Given the description of an element on the screen output the (x, y) to click on. 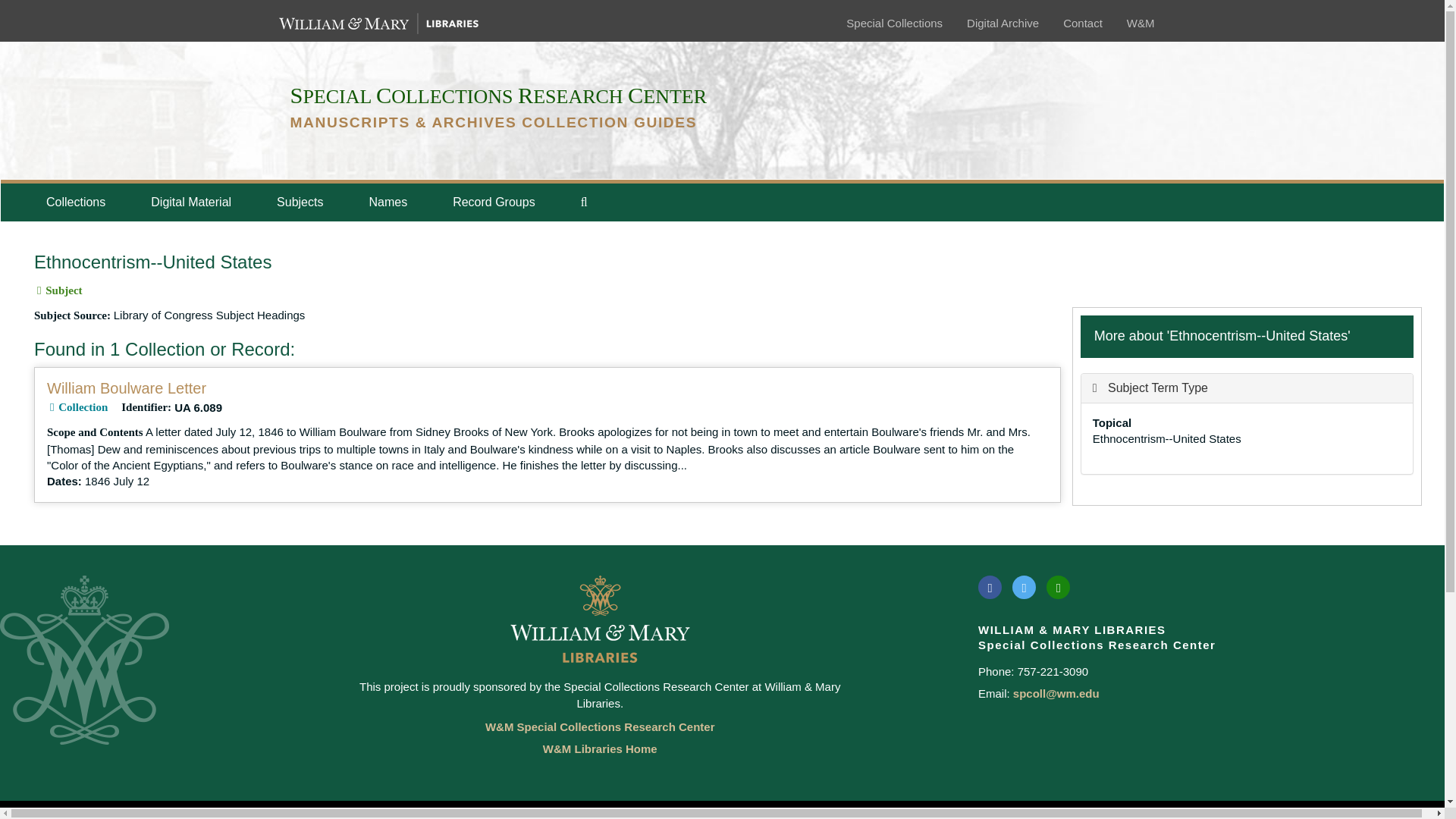
Special Collections Facebook (989, 586)
Search The Archives (583, 202)
Subjects (299, 202)
Digital Material (190, 202)
Record Groups (493, 202)
Page Actions (1130, 245)
SPECIAL COLLECTIONS RESEARCH CENTER (497, 96)
Search The Archives (583, 202)
Subject Term Type (1150, 387)
Special Collections Twitter (1023, 586)
Special Collections Blog (1058, 586)
Collections (75, 202)
Digital Archive (1002, 23)
Special Collections (893, 23)
Names (387, 202)
